Given the description of an element on the screen output the (x, y) to click on. 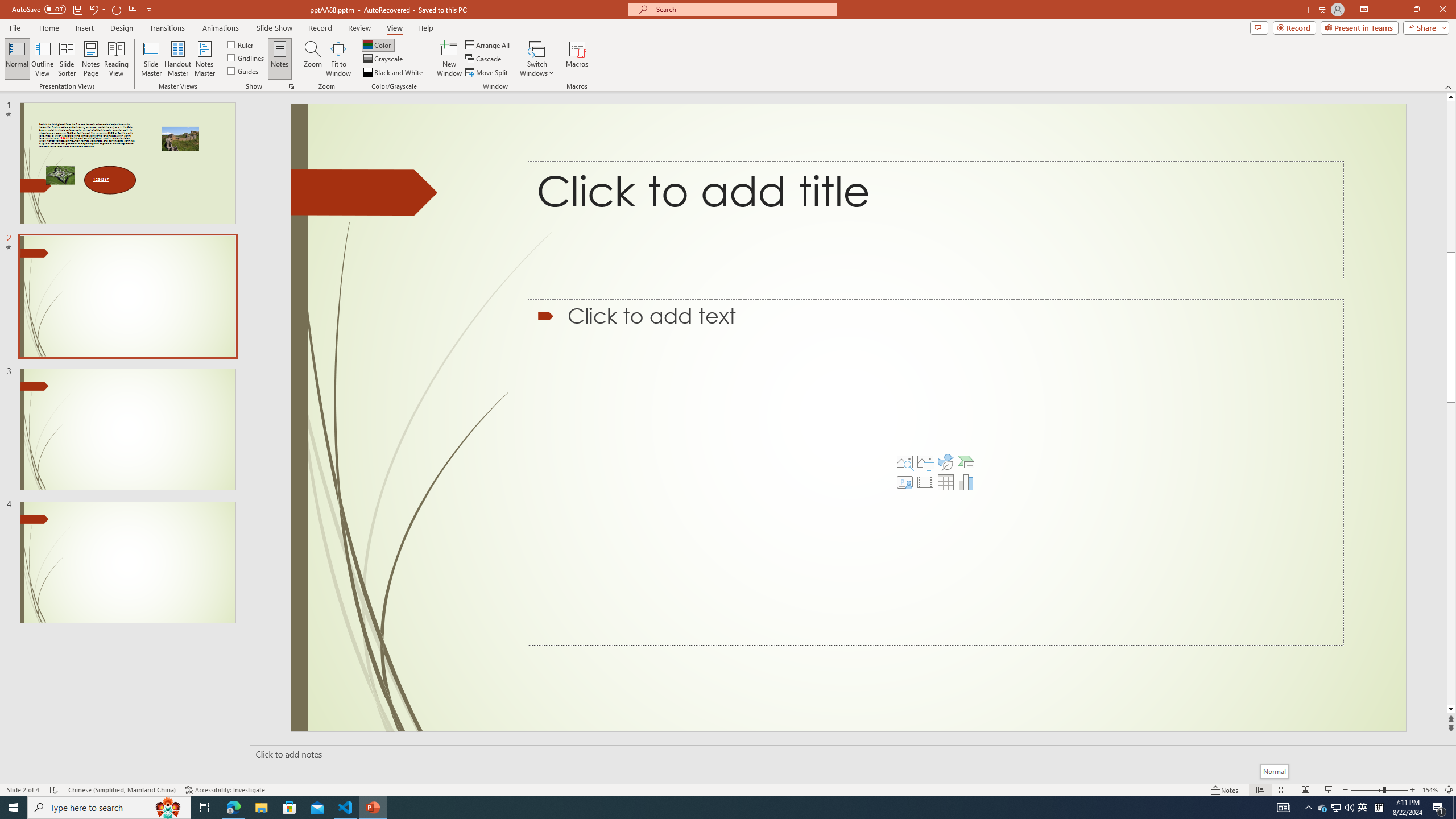
Insert Chart (965, 482)
Notes (279, 58)
Notes Page (90, 58)
Pictures (924, 461)
Grid Settings... (291, 85)
